Given the description of an element on the screen output the (x, y) to click on. 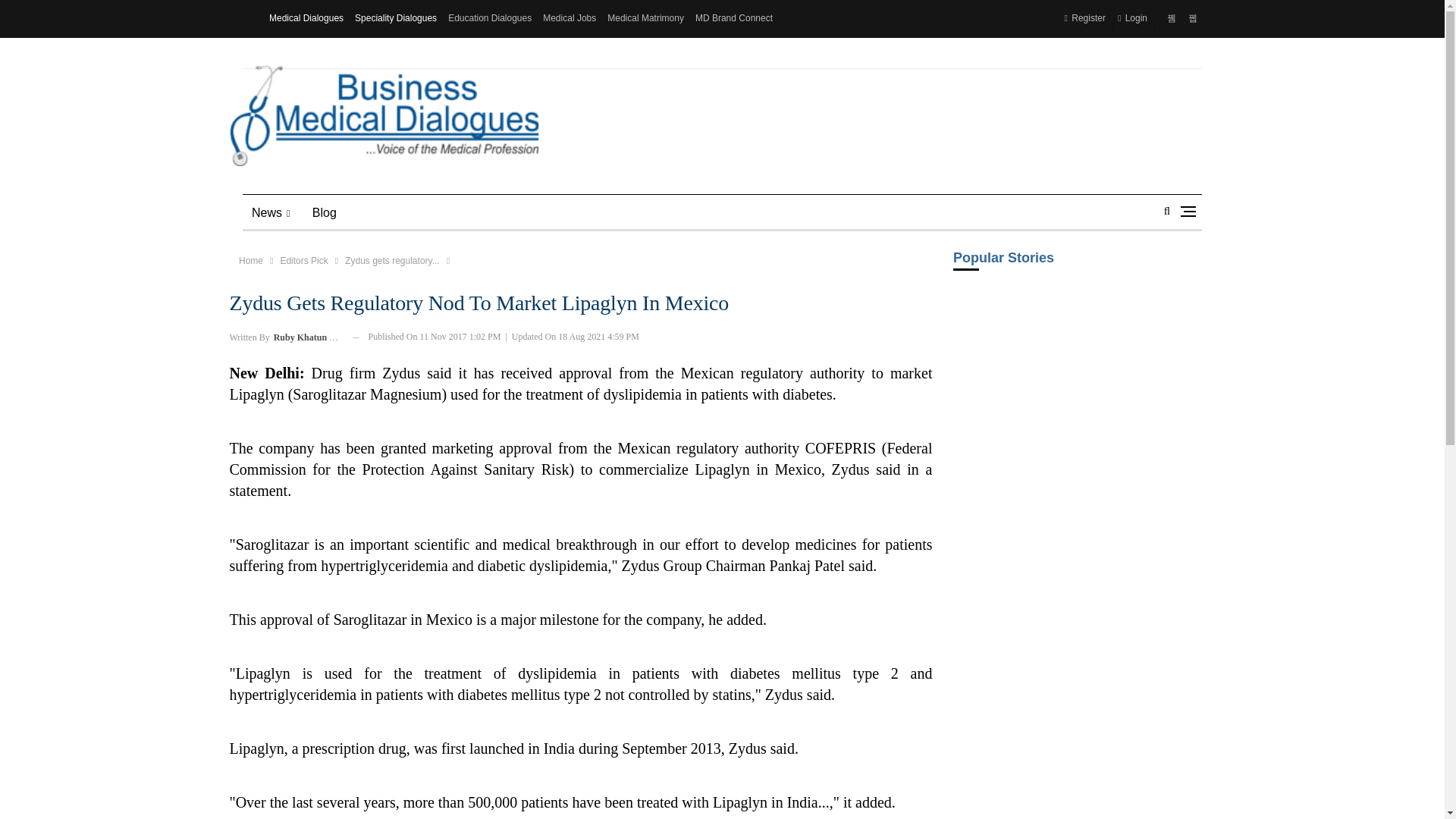
Medical Jobs (569, 18)
Medical Dialogues (306, 18)
Popular Stories (1077, 268)
News (271, 212)
Speciality Dialogues (395, 18)
Medical Matrimony (645, 18)
Blog (324, 212)
Business Medical Dialogues (384, 116)
Education Dialogues (489, 18)
MD Brand Connect (734, 18)
